Given the description of an element on the screen output the (x, y) to click on. 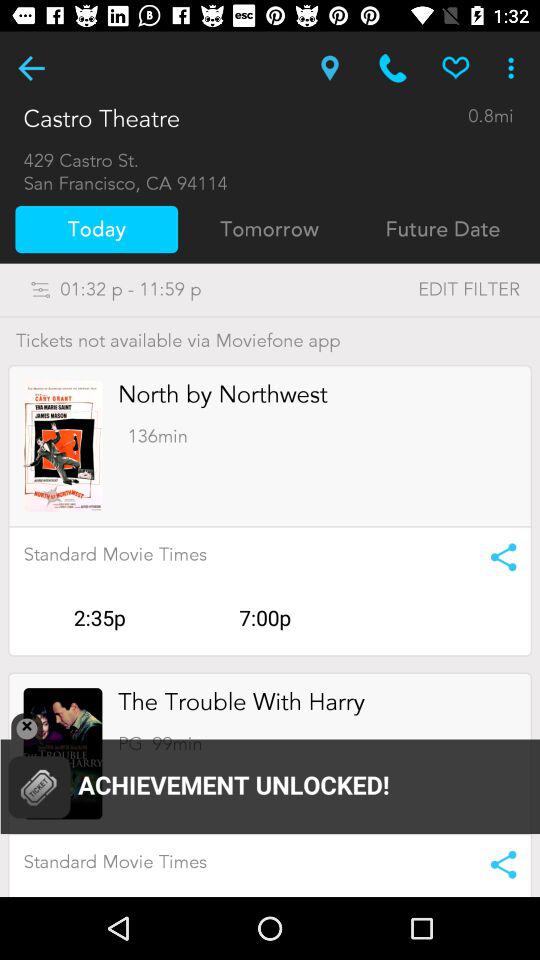
go back (31, 67)
